Given the description of an element on the screen output the (x, y) to click on. 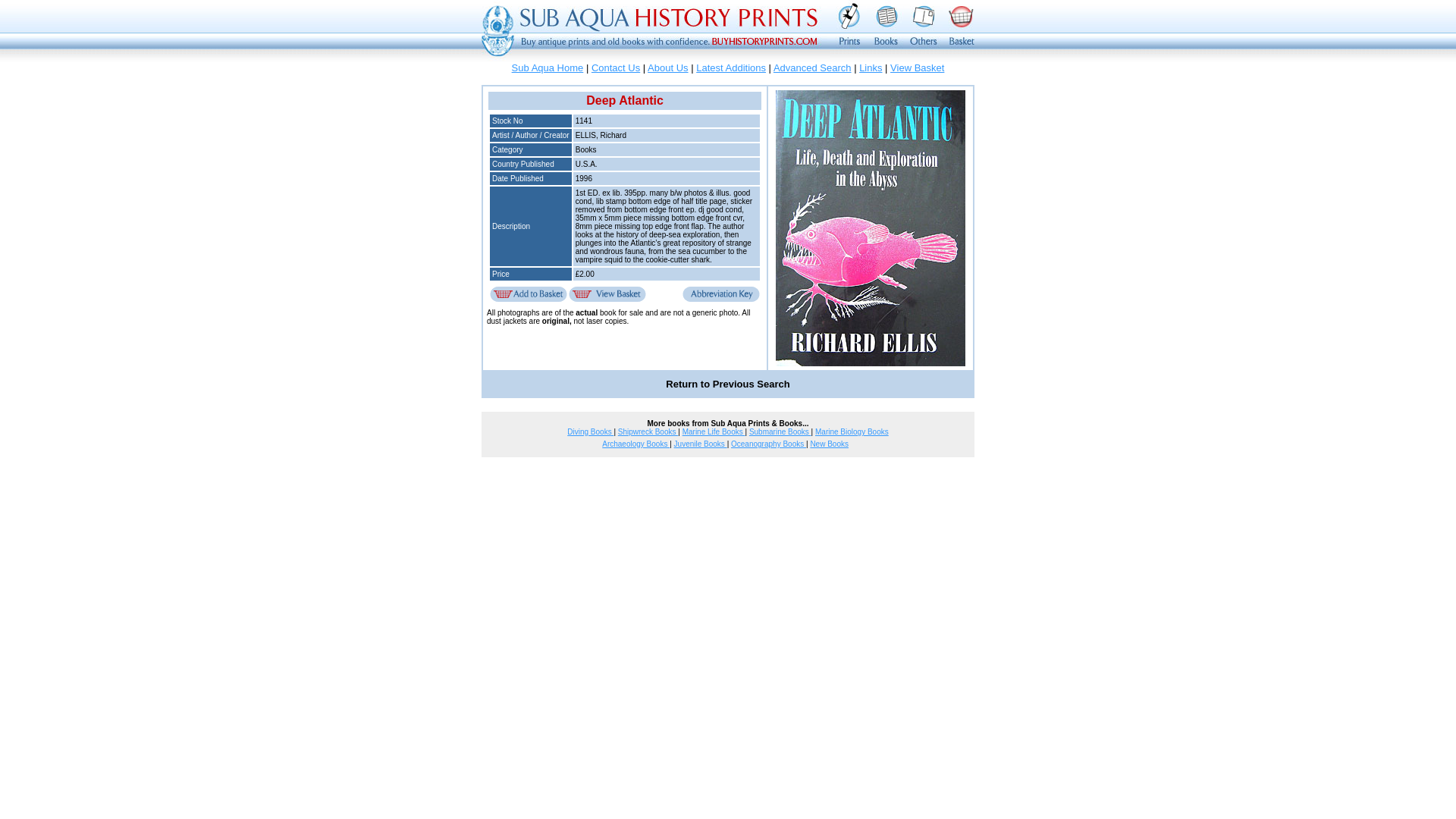
Submarine Books (779, 431)
Shipwreck Books (647, 431)
About Us (667, 67)
Contact Us (615, 67)
Open Chest (607, 294)
Sub Aqua Home (547, 67)
New Books (828, 443)
Links (870, 67)
Archaeology Books (635, 443)
Diving Books (589, 430)
